Given the description of an element on the screen output the (x, y) to click on. 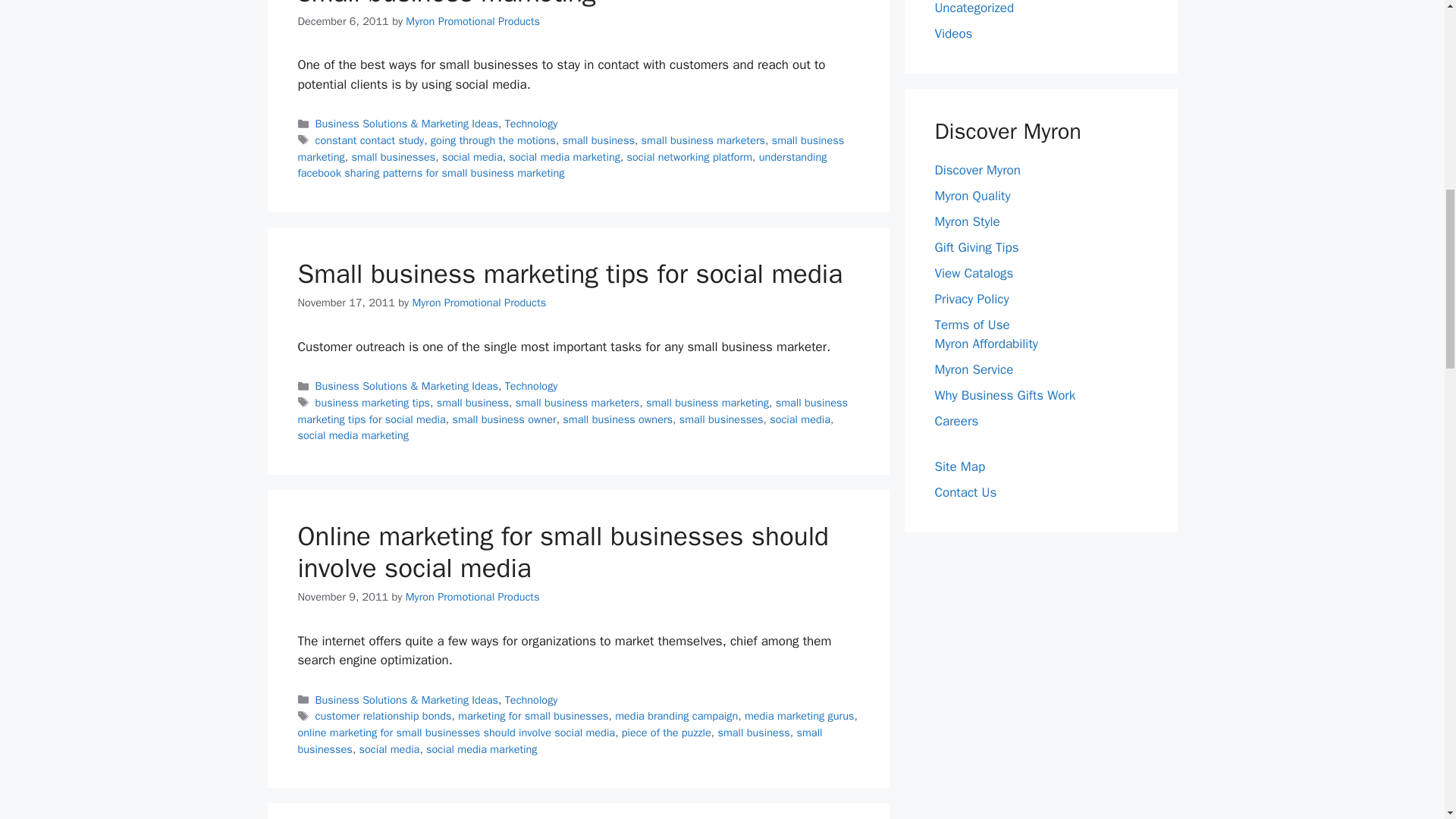
Scroll back to top (1406, 720)
View all posts by Myron Promotional Products (479, 302)
small business marketing (570, 148)
small business marketing (707, 402)
Myron Promotional Products (473, 20)
small business marketers (577, 402)
business marketing tips (372, 402)
constant contact study (370, 140)
View all posts by Myron Promotional Products (473, 596)
small business owner (503, 418)
small business marketers (703, 140)
social media marketing (564, 156)
small businesses (392, 156)
small business (597, 140)
